Given the description of an element on the screen output the (x, y) to click on. 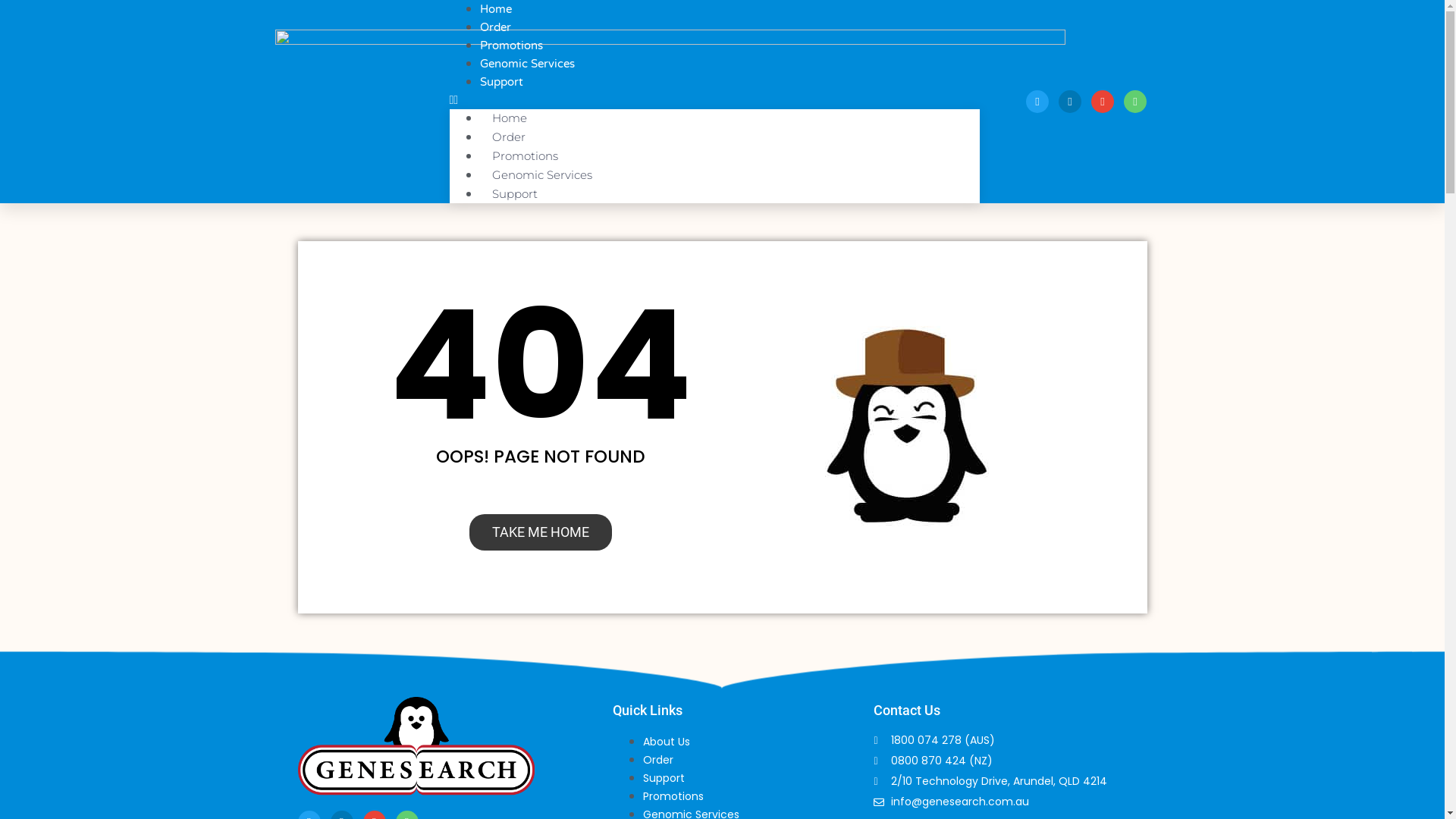
Support Element type: text (514, 193)
Genomic Services Element type: text (526, 63)
Order Element type: text (658, 759)
Home Element type: text (508, 117)
Promotions Element type: text (524, 155)
Genomic Services Element type: text (541, 174)
Order Element type: text (507, 136)
Promotions Element type: text (673, 796)
Support Element type: text (500, 81)
Order Element type: text (494, 26)
About Us Element type: text (666, 741)
Support Element type: text (663, 777)
Promotions Element type: text (510, 45)
0800 870 424 (NZ) Element type: text (1009, 760)
1800 074 278 (AUS) Element type: text (1009, 740)
TAKE ME HOME Element type: text (539, 532)
